Given the description of an element on the screen output the (x, y) to click on. 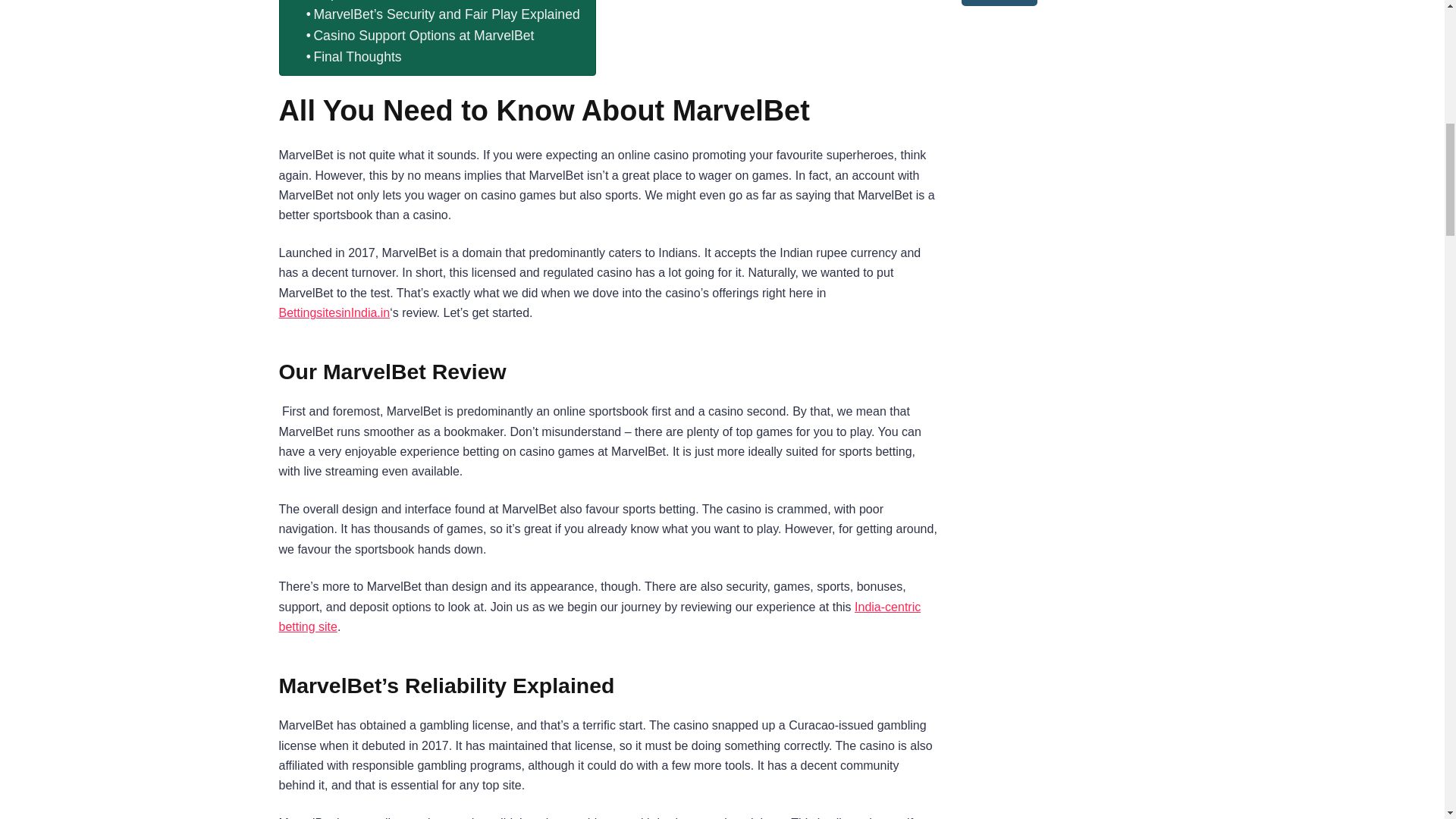
Deposits and Withdrawals at MarvelBet (426, 2)
